Given the description of an element on the screen output the (x, y) to click on. 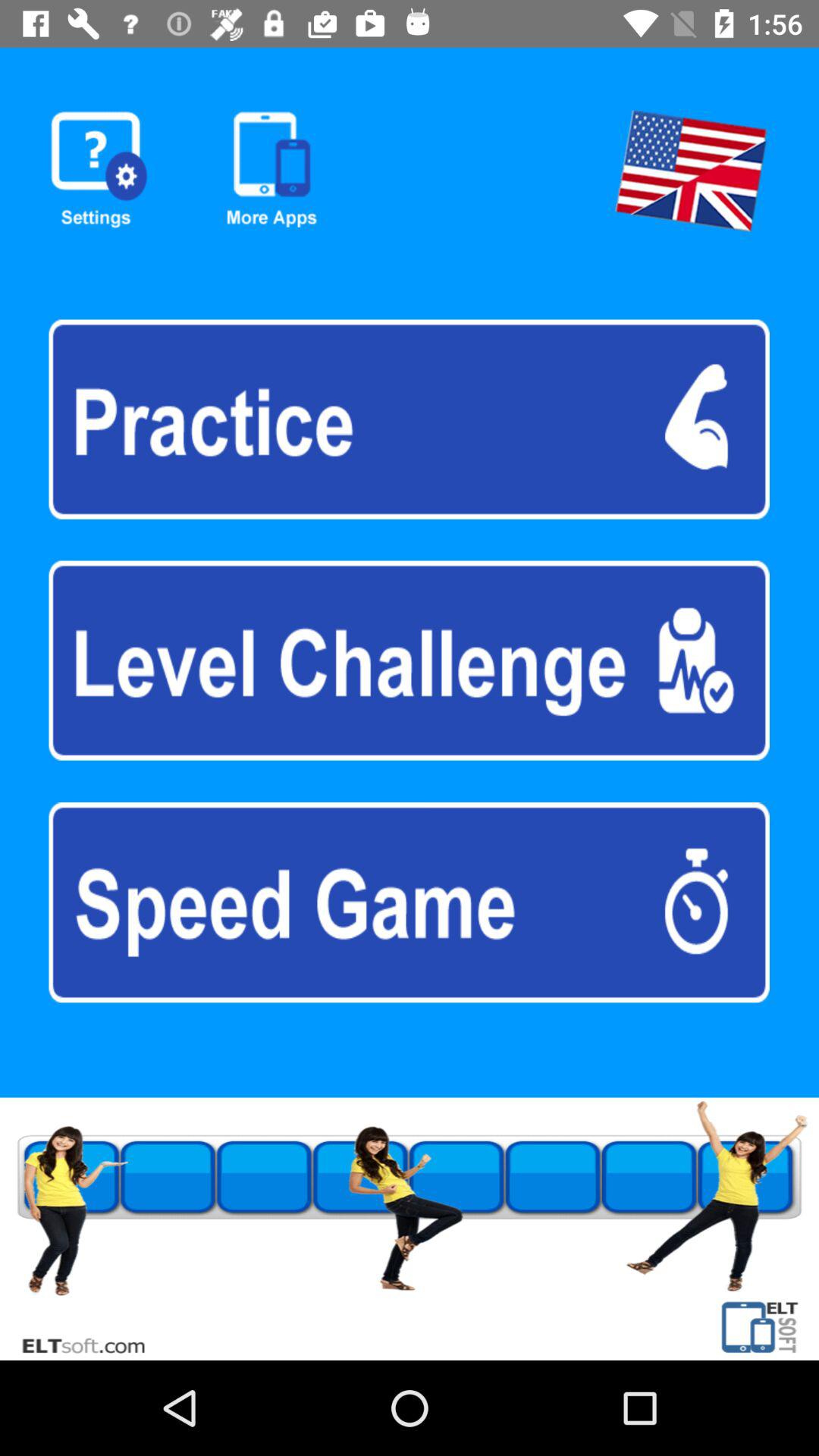
look at other applications (271, 170)
